Given the description of an element on the screen output the (x, y) to click on. 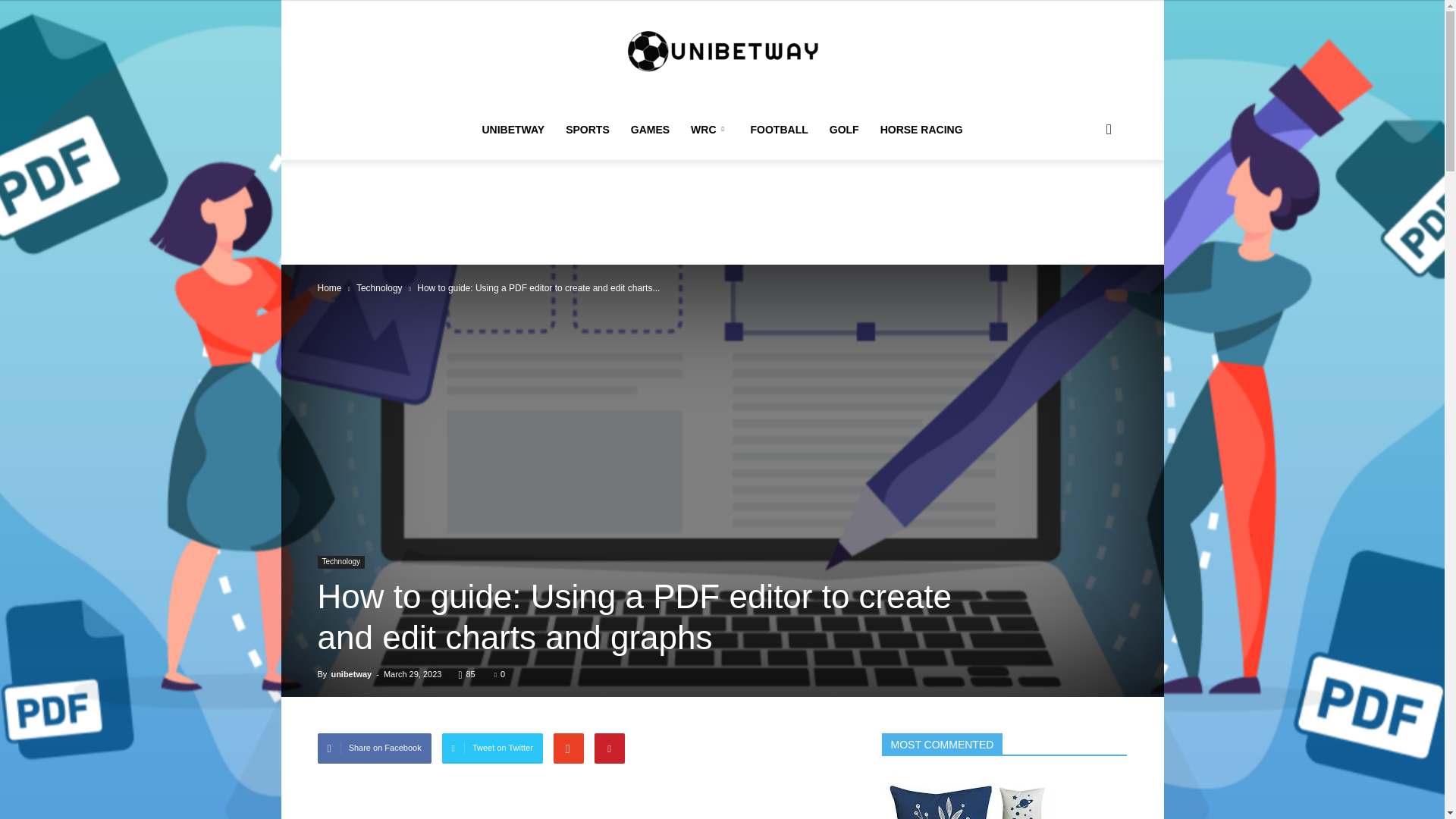
Technology (379, 287)
View all posts in Technology (379, 287)
Technology (341, 562)
GOLF (843, 129)
unibetway (350, 673)
FOOTBALL (778, 129)
0 (500, 673)
Search (1085, 202)
Share on Facebook (373, 748)
WRC (709, 129)
UNIBETWAY (512, 129)
Advertisement (721, 212)
HORSE RACING (921, 129)
GAMES (649, 129)
SPORTS (587, 129)
